Given the description of an element on the screen output the (x, y) to click on. 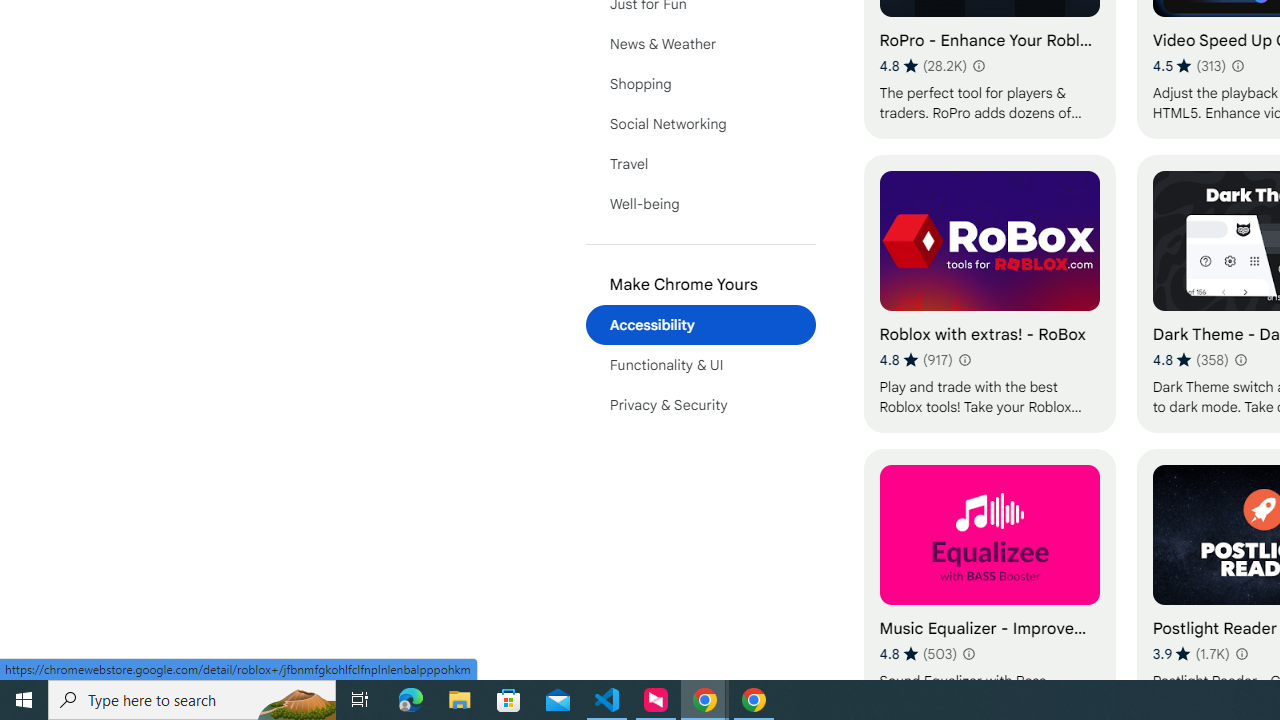
Average rating 4.8 out of 5 stars. 917 ratings. (916, 359)
Functionality & UI (700, 364)
Accessibility (selected) (700, 324)
Average rating 4.8 out of 5 stars. 28.2K ratings. (923, 66)
Shopping (700, 83)
Travel (700, 164)
Average rating 4.5 out of 5 stars. 313 ratings. (1189, 66)
Social Networking (700, 123)
Average rating 4.8 out of 5 stars. 358 ratings. (1190, 359)
Average rating 3.9 out of 5 stars. 1.7K ratings. (1191, 653)
Privacy & Security (700, 404)
Learn more about results and reviews "Postlight Reader" (1240, 654)
